Given the description of an element on the screen output the (x, y) to click on. 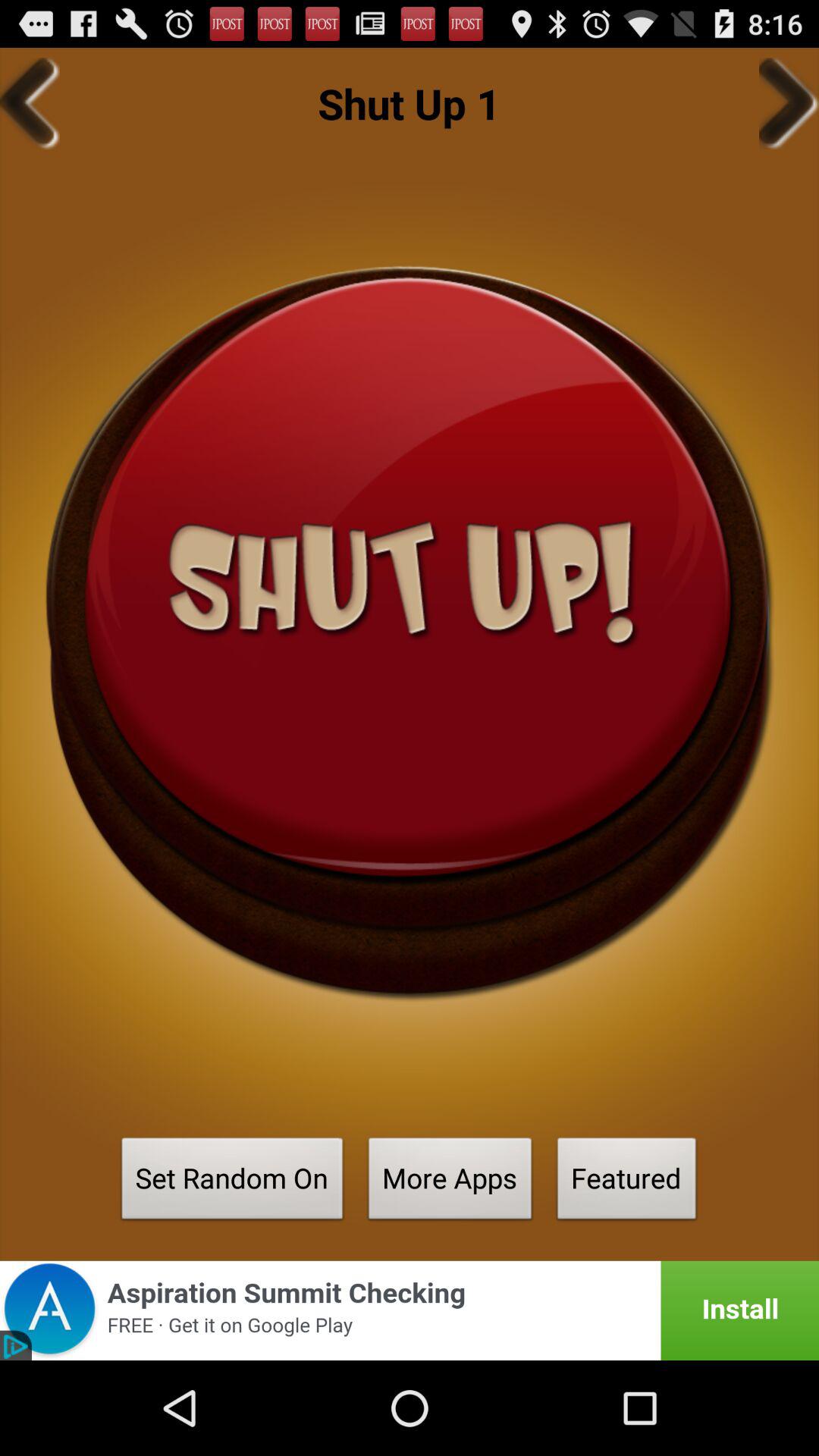
press item at the top right corner (789, 103)
